Given the description of an element on the screen output the (x, y) to click on. 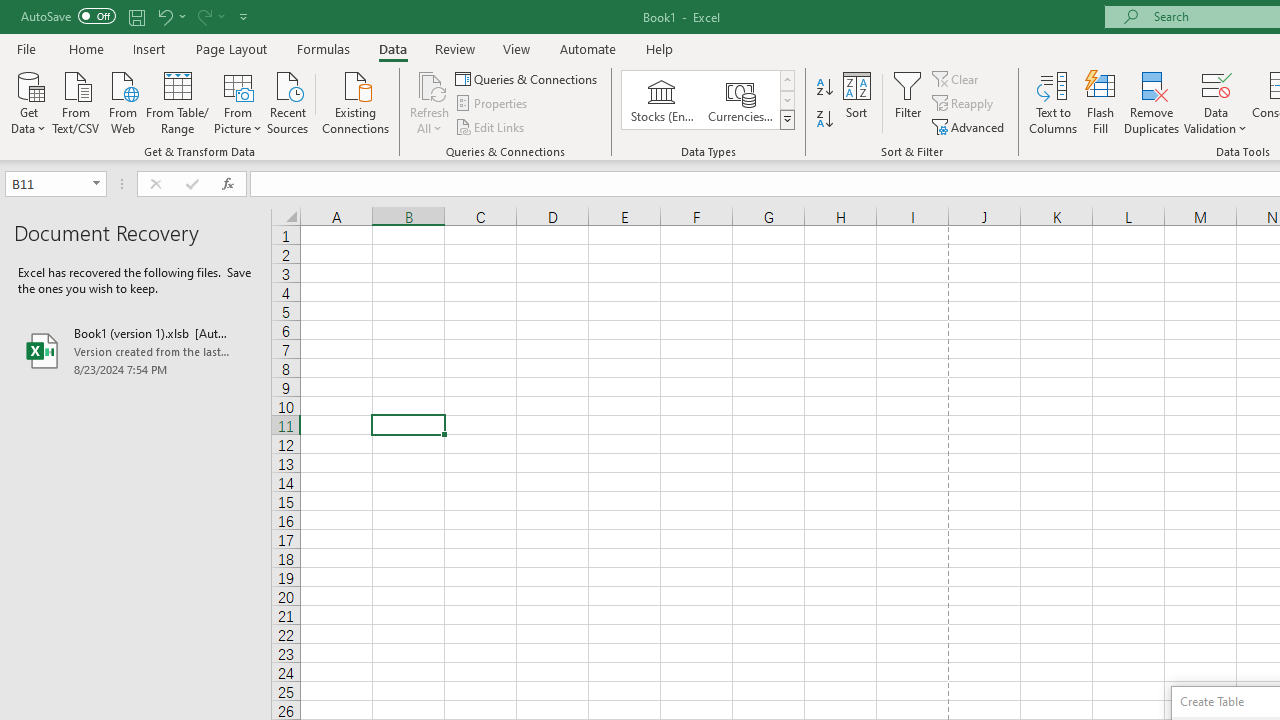
From Picture (238, 101)
Class: NetUIImage (787, 119)
From Table/Range (177, 101)
Book1 (version 1).xlsb  [AutoRecovered] (136, 350)
Sort Z to A (824, 119)
Clear (957, 78)
Remove Duplicates (1151, 102)
